Given the description of an element on the screen output the (x, y) to click on. 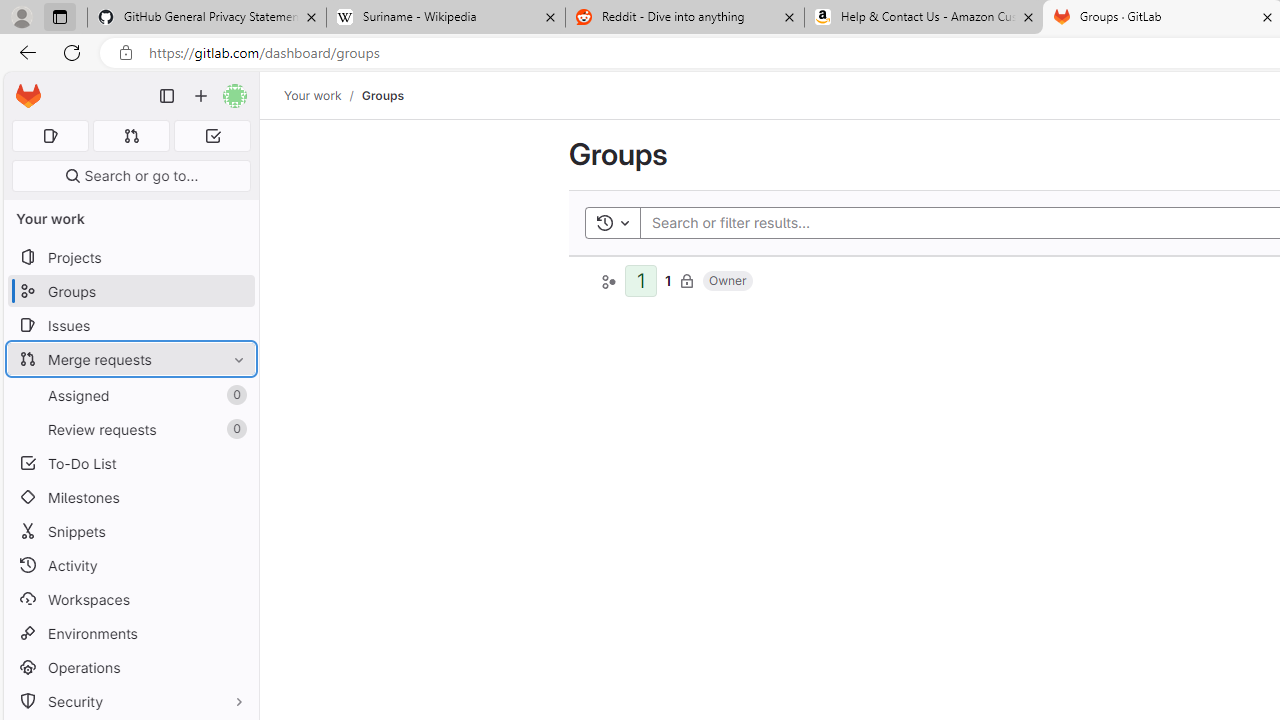
Toggle history (612, 222)
1 (667, 280)
Your work (312, 95)
Review requests 0 (130, 429)
To-Do List (130, 463)
Review requests0 (130, 429)
Projects (130, 257)
Operations (130, 667)
Your work/ (323, 95)
Security (130, 700)
GitHub General Privacy Statement - GitHub Docs (207, 17)
Groups (382, 95)
Milestones (130, 497)
